Given the description of an element on the screen output the (x, y) to click on. 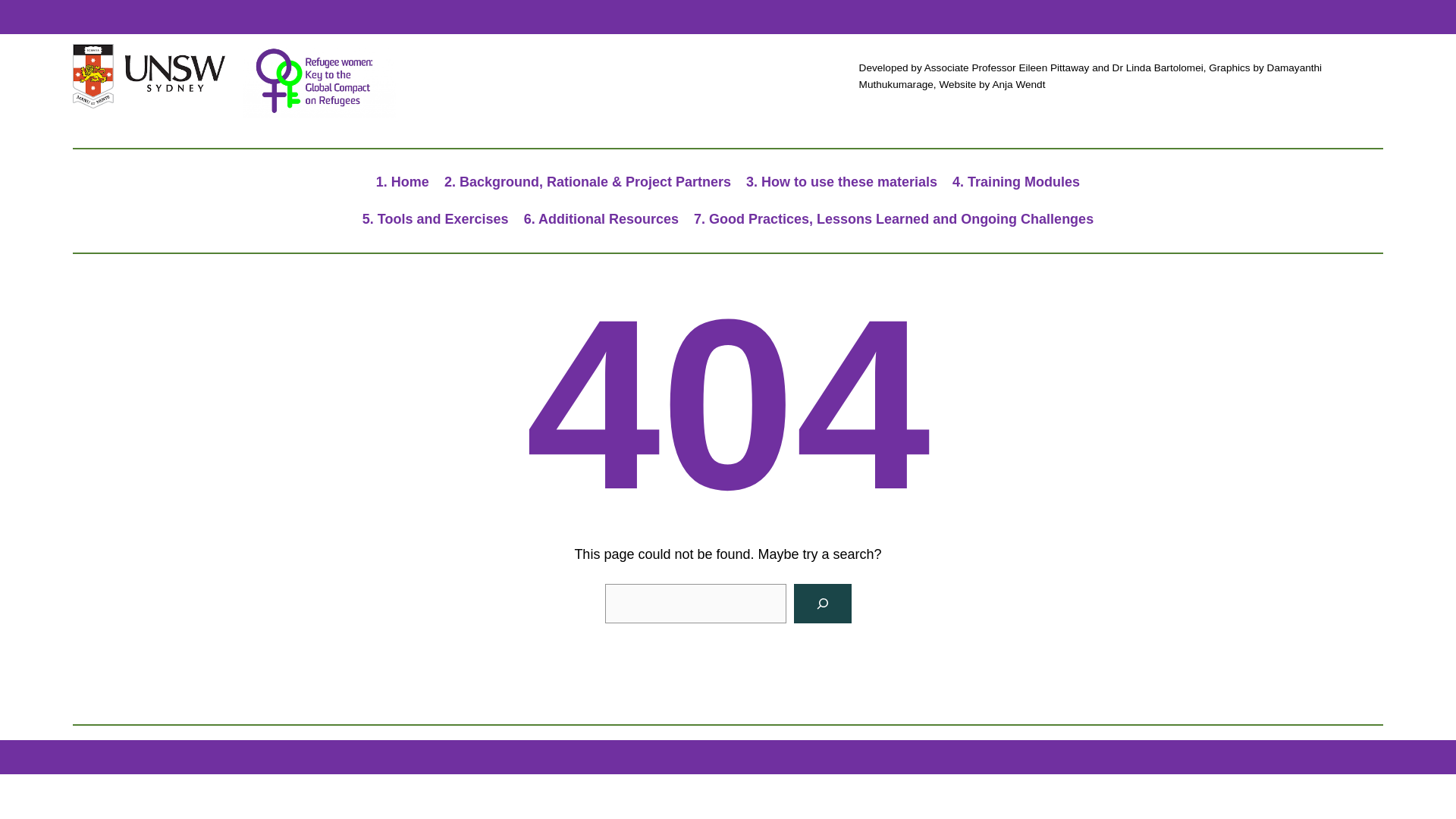
4. Training Modules (1016, 182)
3. How to use these materials (841, 182)
5. Tools and Exercises (435, 219)
6. Additional Resources (601, 219)
7. Good Practices, Lessons Learned and Ongoing Challenges (893, 219)
1. Home (402, 182)
